Given the description of an element on the screen output the (x, y) to click on. 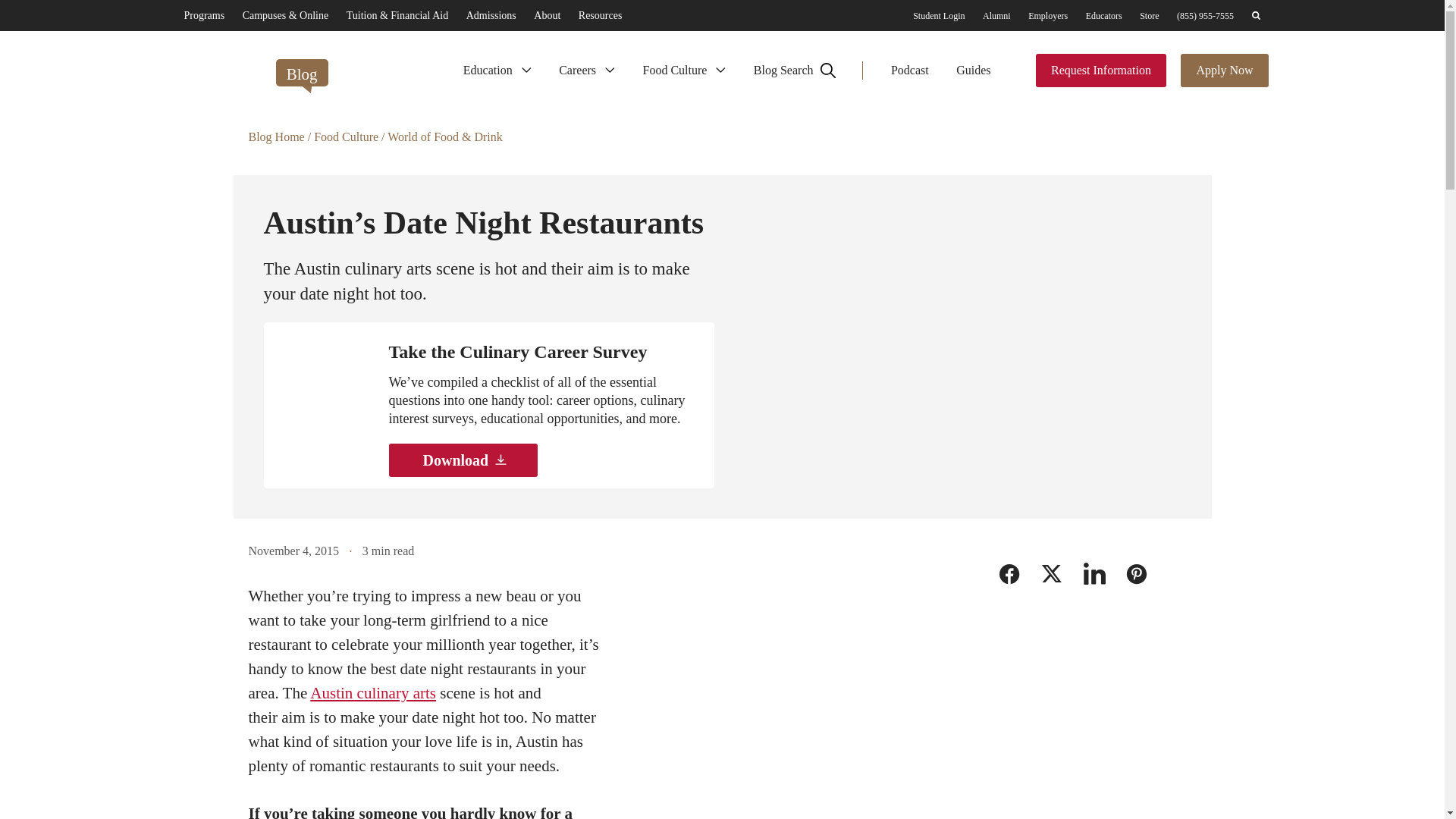
Programs (203, 15)
